Given the description of an element on the screen output the (x, y) to click on. 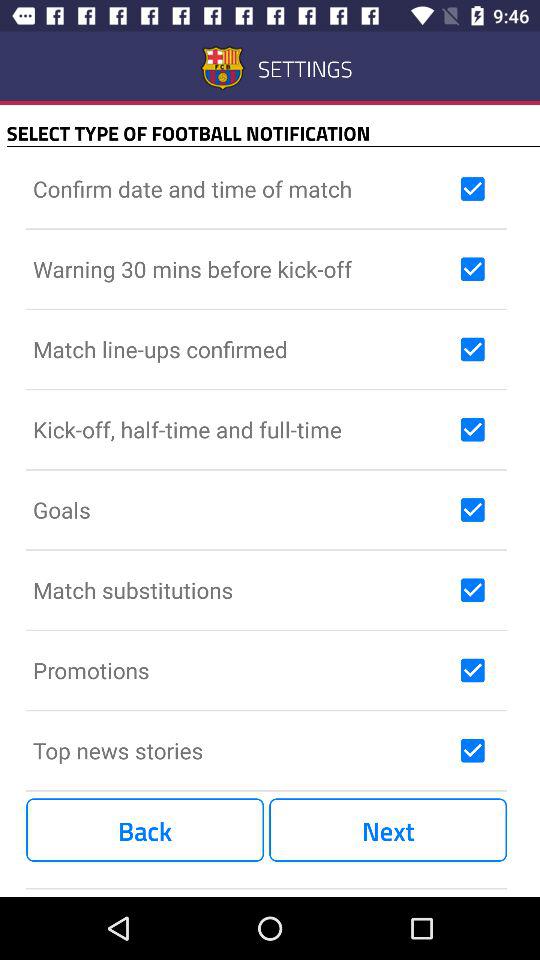
check information box (472, 510)
